Given the description of an element on the screen output the (x, y) to click on. 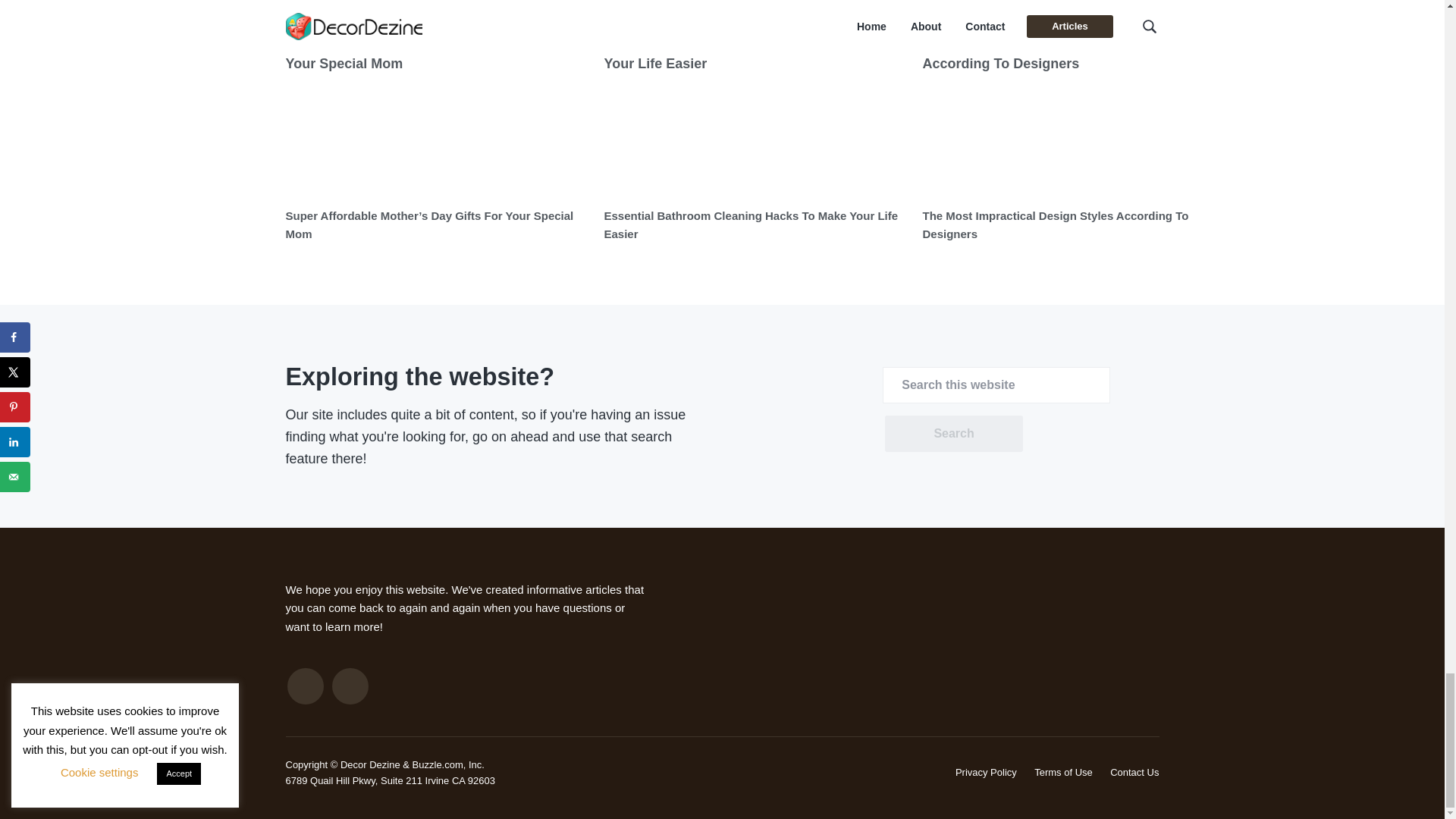
Search (953, 433)
Search (953, 433)
Search (953, 433)
Essential Bathroom Cleaning Hacks To Make Your Life Easier (751, 224)
The Most Impractical Design Styles According To Designers (1054, 224)
